Given the description of an element on the screen output the (x, y) to click on. 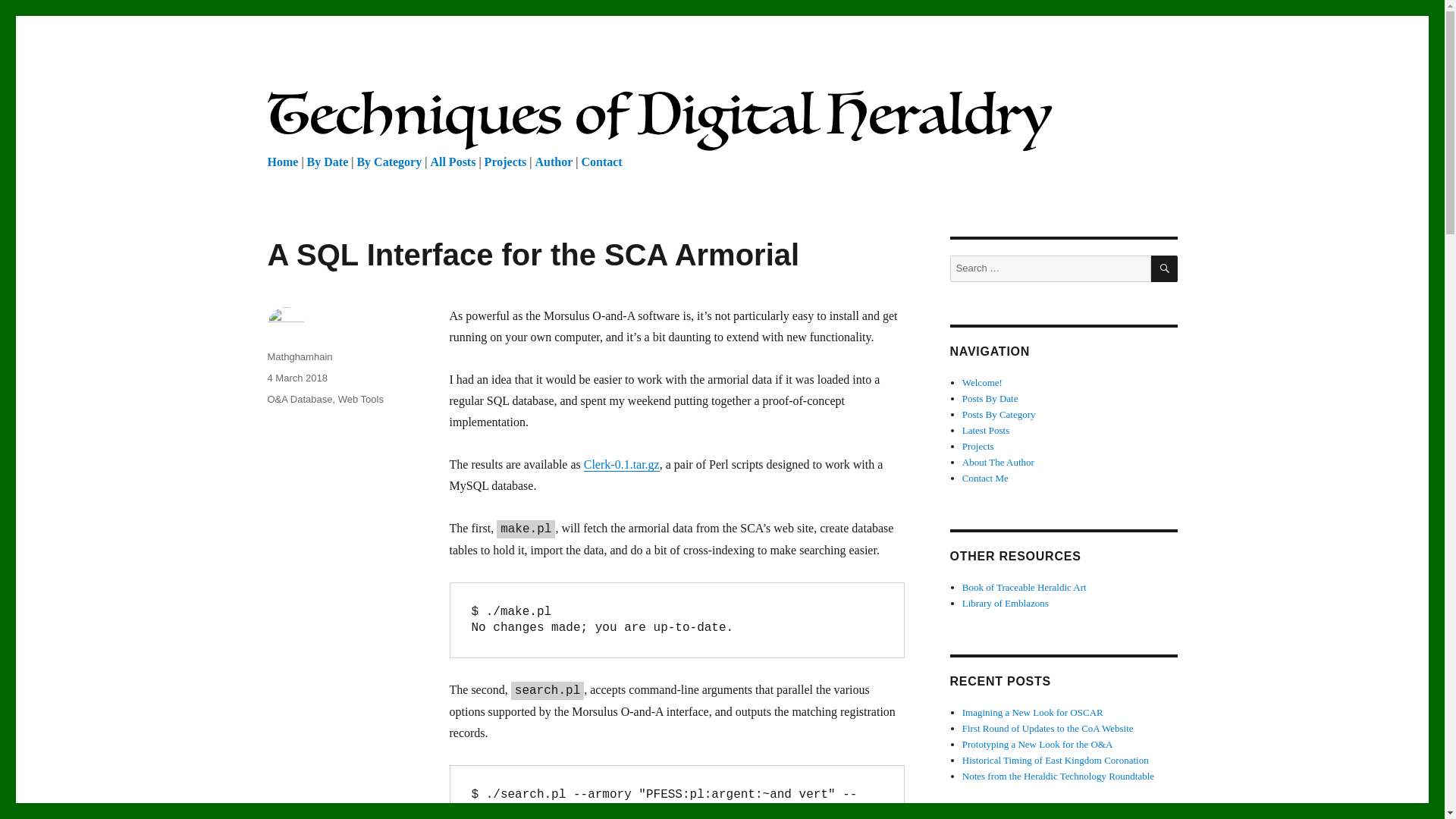
Posts By Category (998, 414)
By Category (389, 161)
Historical Timing of East Kingdom Coronation (1055, 759)
Mathghamhain (298, 356)
All Posts (452, 161)
By Date (328, 161)
Projects (978, 446)
Welcome! (982, 382)
Imagining a New Look for OSCAR (1032, 712)
Web Tools (360, 398)
First Round of Updates to the CoA Website (1048, 727)
Contact Me (985, 478)
Author (553, 161)
Library of Emblazons (1005, 603)
Clerk-0.1.tar.gz (621, 463)
